Given the description of an element on the screen output the (x, y) to click on. 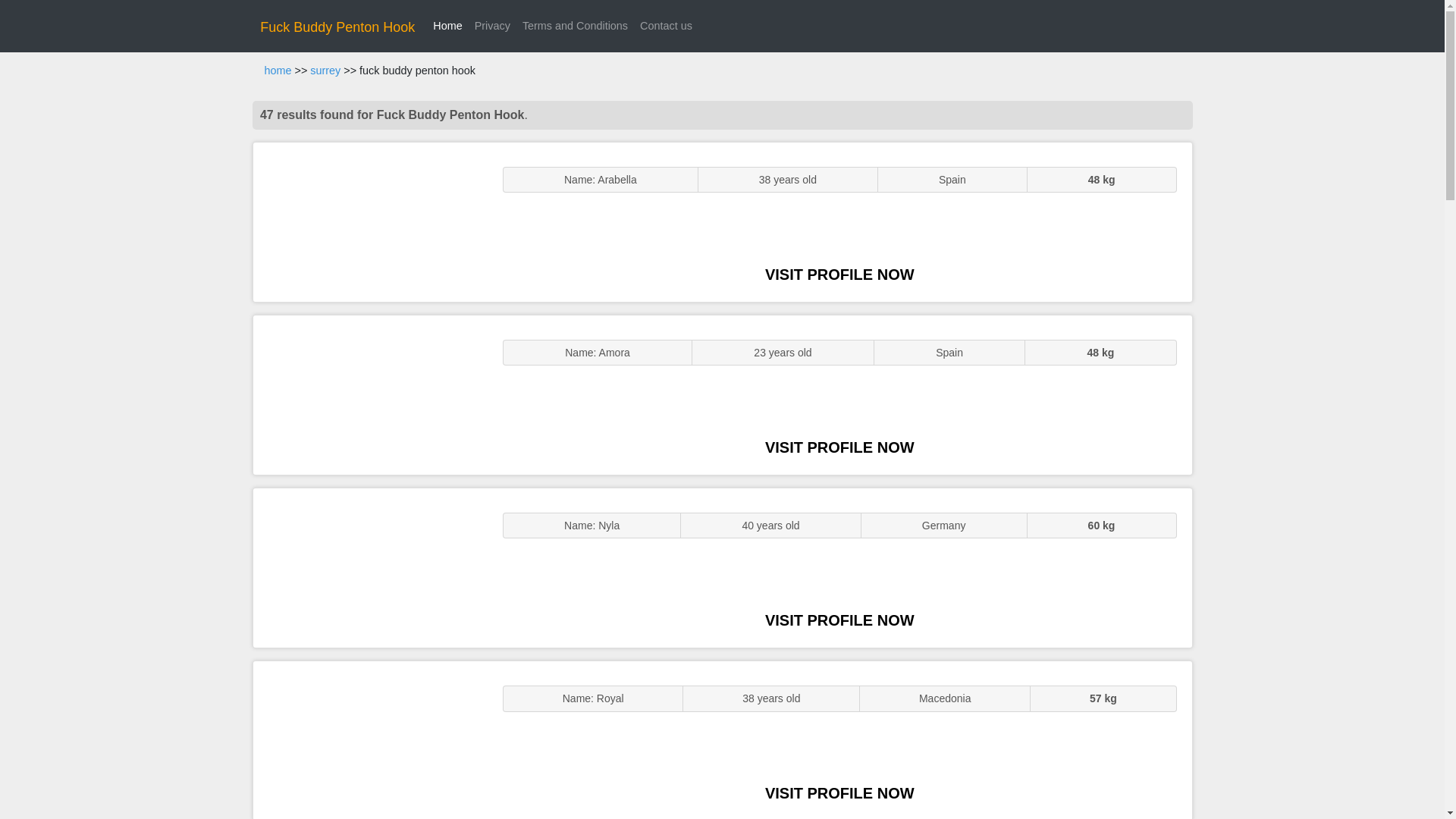
Sluts (370, 739)
home (277, 70)
Contact us (665, 25)
 ENGLISH STUNNER (370, 222)
Terms and Conditions (574, 25)
Fuck Buddy Penton Hook (337, 27)
Privacy (492, 25)
Sexy (370, 567)
VISIT PROFILE NOW (839, 446)
VISIT PROFILE NOW (839, 274)
VISIT PROFILE NOW (839, 619)
surrey (325, 70)
GFE (370, 395)
VISIT PROFILE NOW (839, 792)
